Given the description of an element on the screen output the (x, y) to click on. 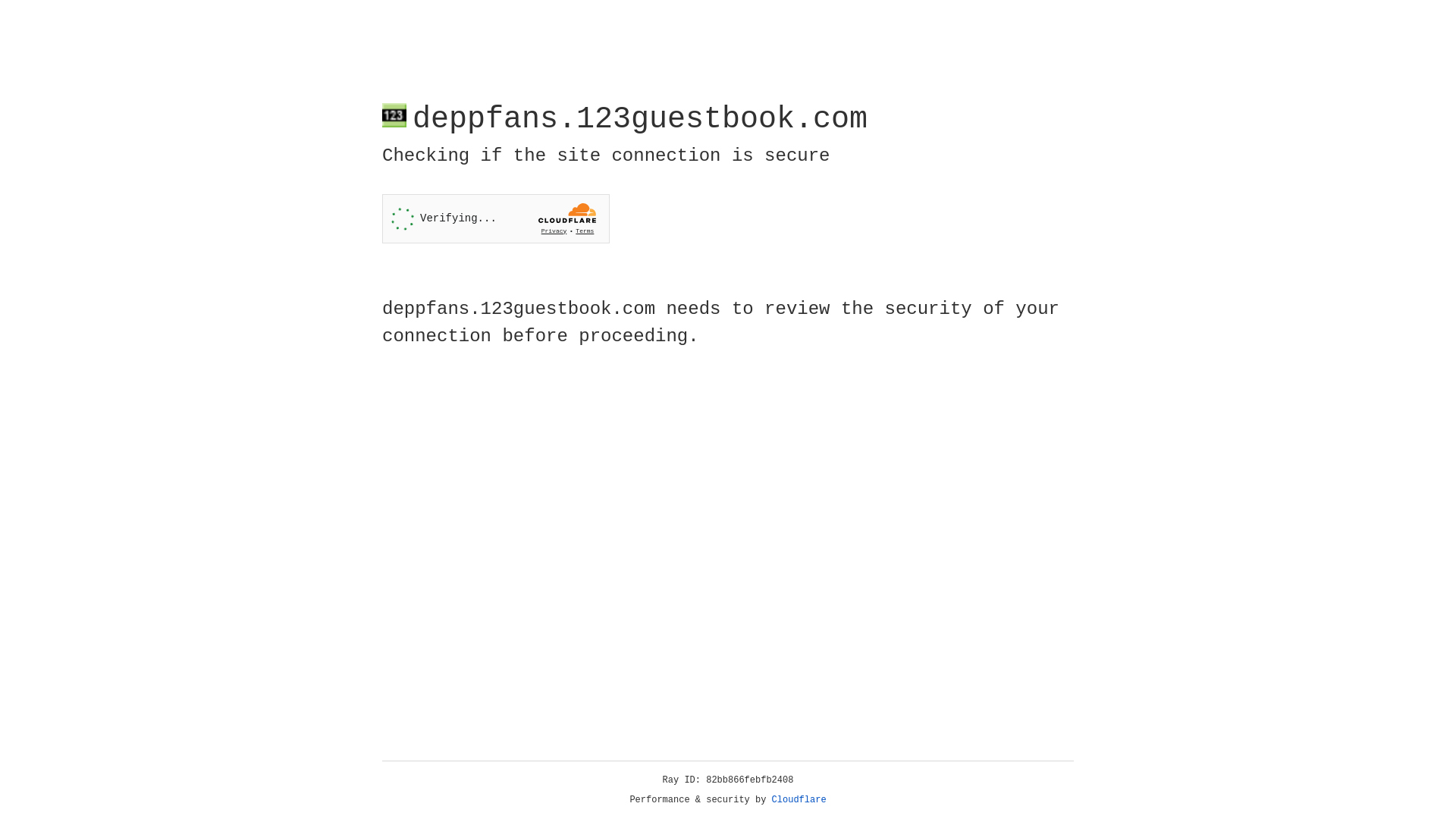
Widget containing a Cloudflare security challenge Element type: hover (495, 218)
Cloudflare Element type: text (798, 799)
